Given the description of an element on the screen output the (x, y) to click on. 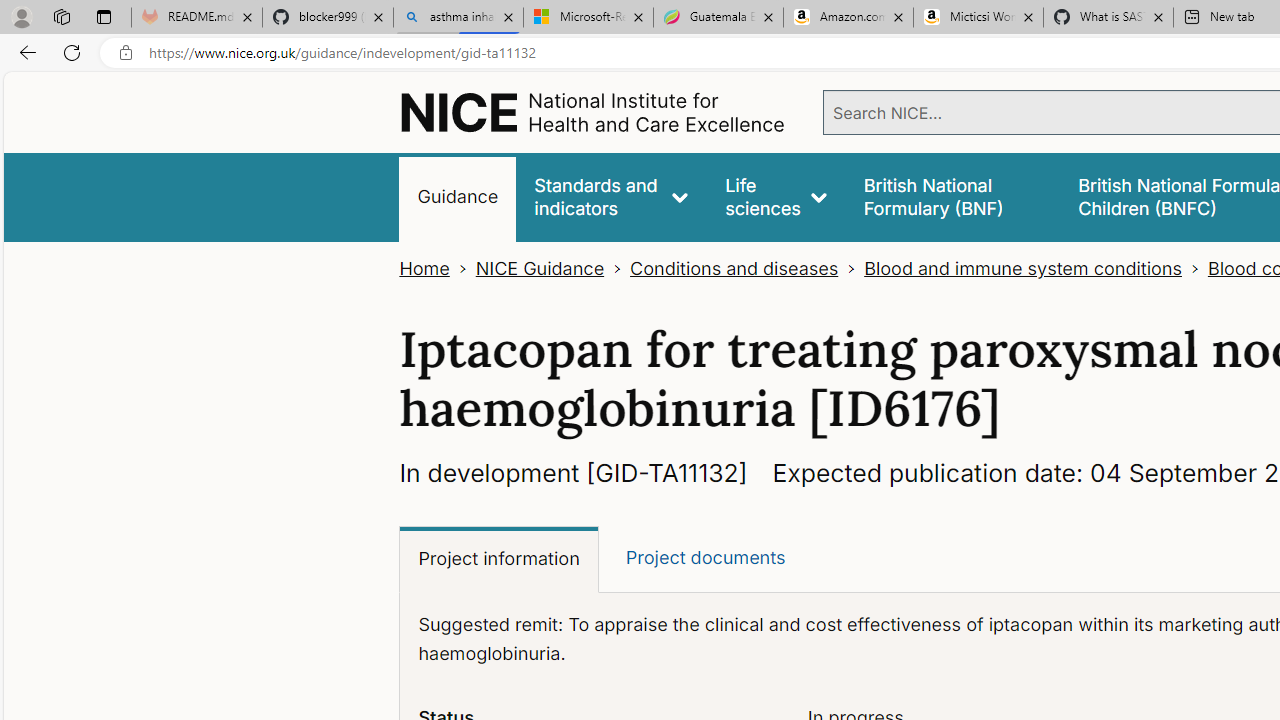
Home (424, 268)
Life sciences (776, 196)
Life sciences (776, 196)
